Given the description of an element on the screen output the (x, y) to click on. 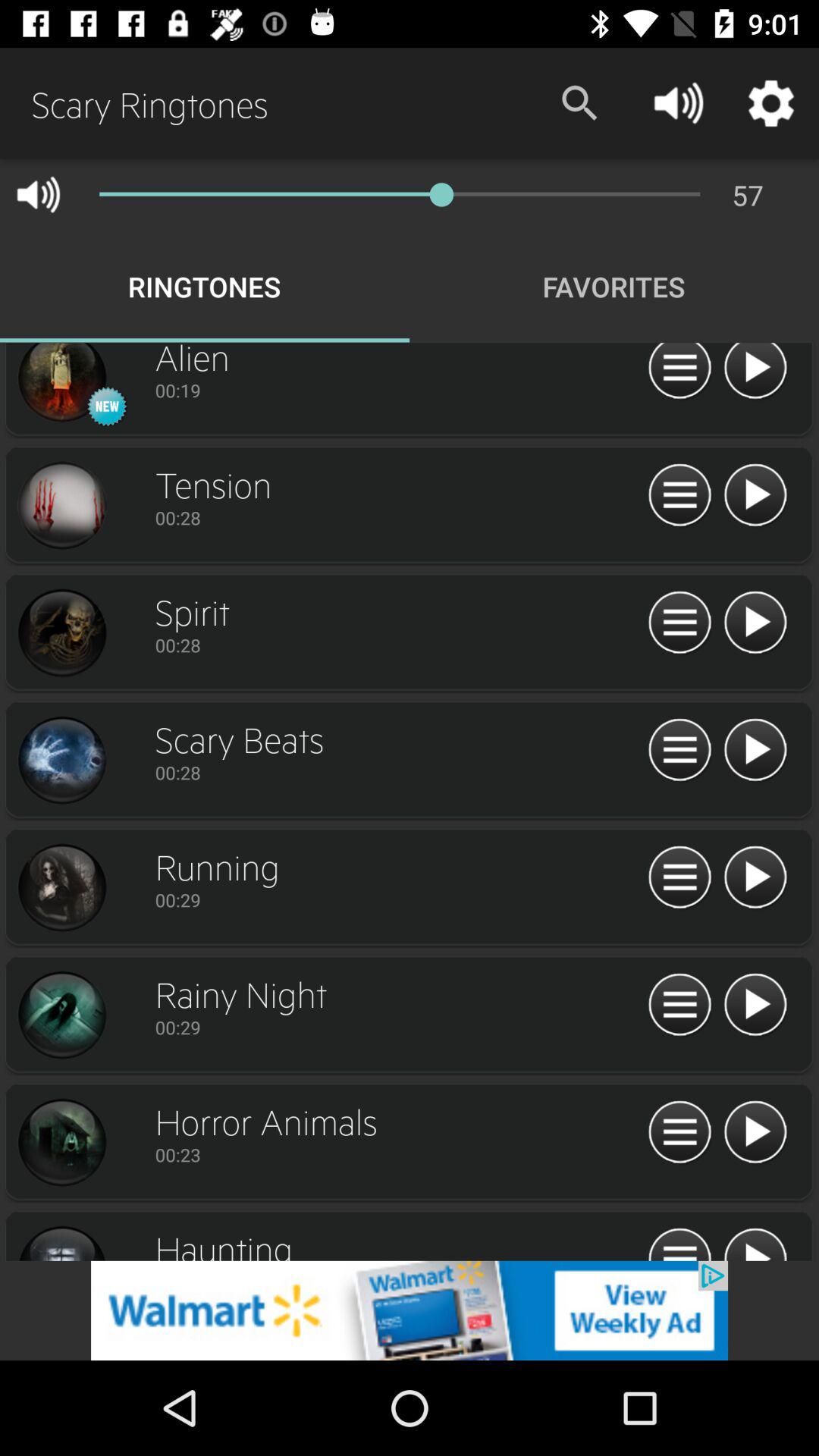
play clip (755, 1242)
